Given the description of an element on the screen output the (x, y) to click on. 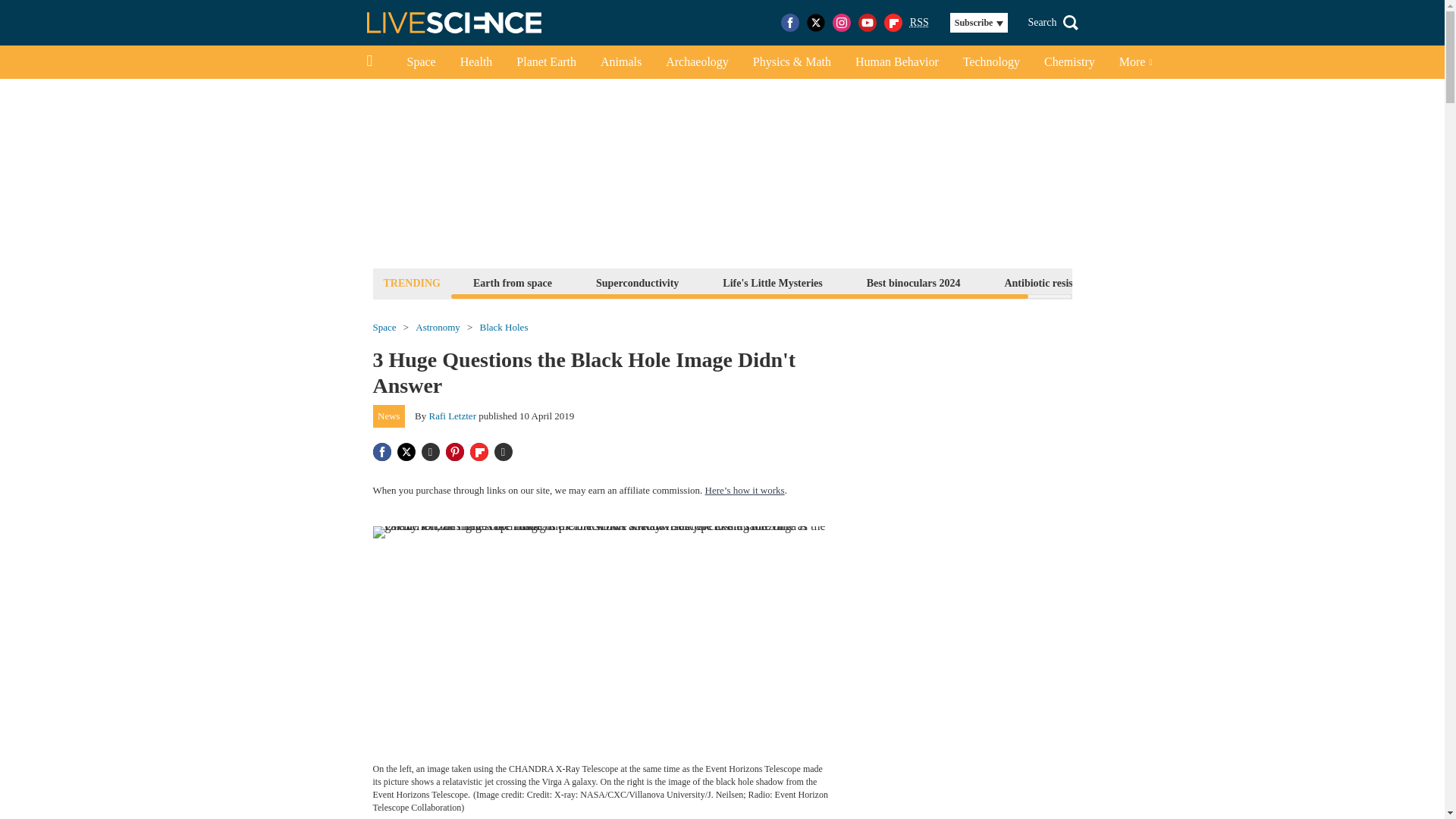
Archaeology (697, 61)
News (389, 415)
Life's Little Mysteries (772, 282)
Planet Earth (545, 61)
Rafi Letzter (452, 415)
Black Holes (504, 327)
Superconductivity (637, 282)
Space (420, 61)
Technology (991, 61)
Really Simple Syndication (919, 21)
